Given the description of an element on the screen output the (x, y) to click on. 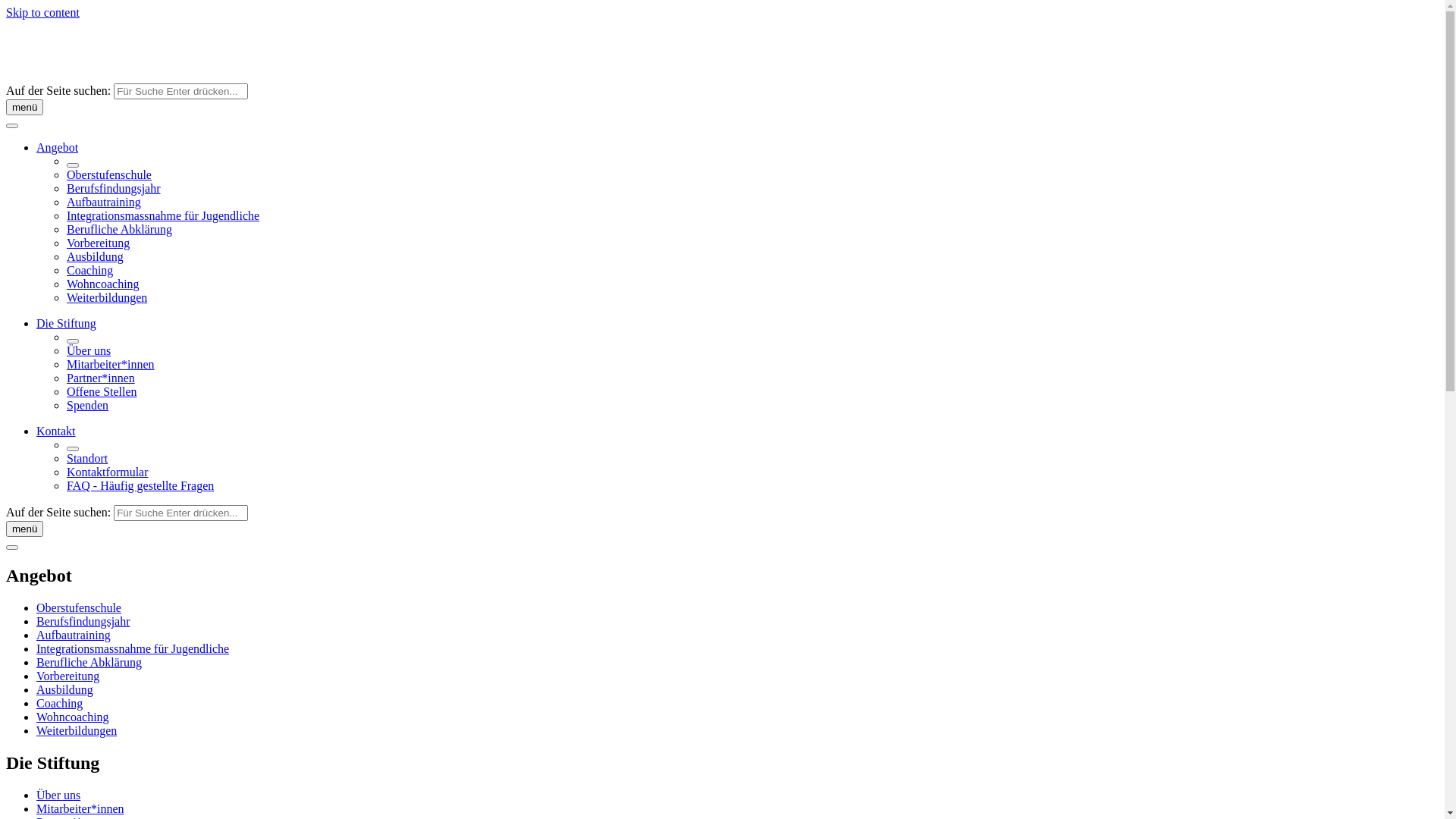
Kontakt Element type: text (55, 430)
Aufbautraining Element type: text (103, 201)
Mitarbeiter*innen Element type: text (110, 363)
Kontaktformular Element type: text (107, 471)
Weiterbildungen Element type: text (106, 297)
Mitarbeiter*innen Element type: text (80, 808)
Angebot Element type: text (57, 147)
Wohncoaching Element type: text (72, 716)
Aufbautraining Element type: text (73, 634)
Partner*innen Element type: text (100, 377)
Oberstufenschule Element type: text (78, 607)
Spenden Element type: text (87, 404)
Ausbildung Element type: text (64, 689)
Die Stiftung Element type: text (66, 322)
Standort Element type: text (86, 457)
Coaching Element type: text (89, 269)
Wohncoaching Element type: text (102, 283)
Skip to content Element type: text (42, 12)
Vorbereitung Element type: text (97, 242)
Oberstufenschule Element type: text (108, 174)
Weiterbildungen Element type: text (76, 730)
Ausbildung Element type: text (94, 256)
Coaching Element type: text (59, 702)
Autismuslink Element type: hover (119, 75)
Vorbereitung Element type: text (67, 675)
Offene Stellen Element type: text (101, 391)
